Given the description of an element on the screen output the (x, y) to click on. 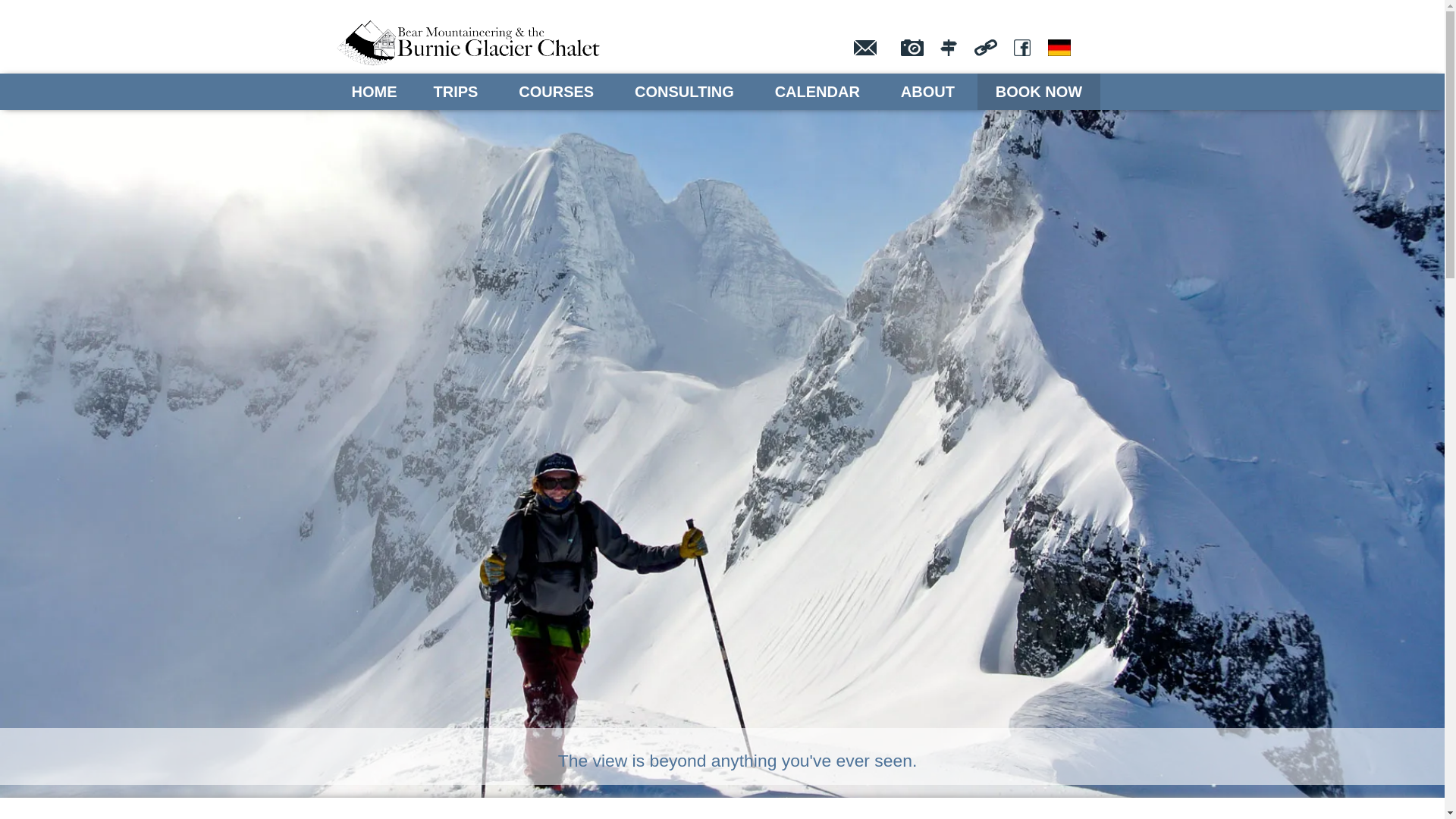
Gallery Element type: hover (911, 47)
Contact US Element type: hover (864, 47)
Getting Here Element type: hover (948, 47)
Facebook Element type: hover (1021, 47)
CALENDAR Element type: text (817, 91)
COURSES Element type: text (555, 91)
German Element type: hover (1059, 47)
Previous Element type: text (39, 399)
ABOUT Element type: text (927, 91)
Links Element type: hover (985, 47)
TRIPS Element type: text (455, 91)
Next Element type: text (1404, 399)
HOME Element type: text (374, 91)
BOOK NOW Element type: text (1038, 91)
CONSULTING Element type: text (684, 91)
